Given the description of an element on the screen output the (x, y) to click on. 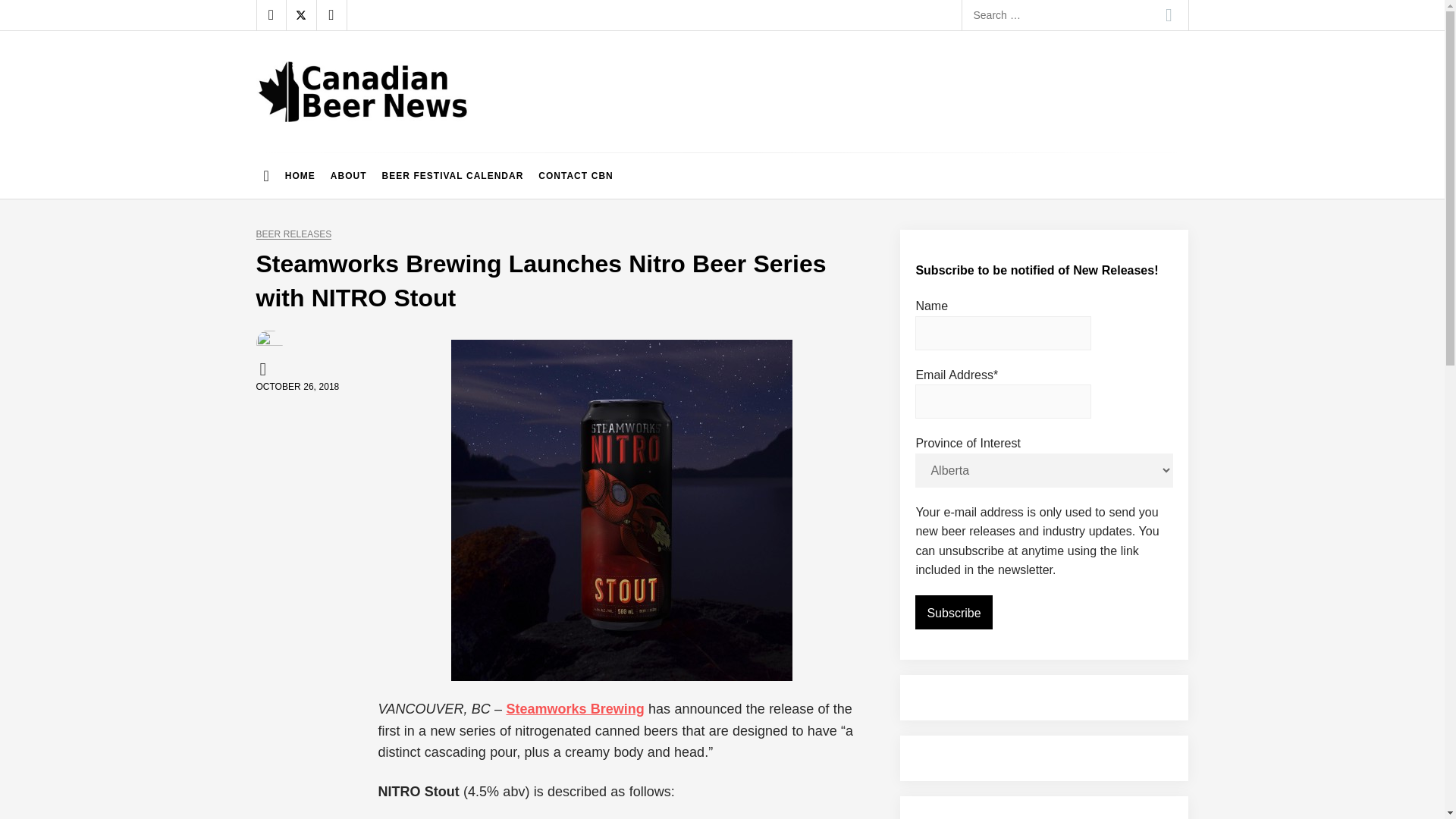
Canadian Beer News (384, 136)
Subscribe (953, 612)
ABOUT (348, 176)
BEER FESTIVAL CALENDAR (452, 176)
Search (1169, 15)
Search (1169, 15)
CBN (265, 368)
HOME (300, 176)
Search (1169, 15)
OCTOBER 26, 2018 (297, 386)
